Given the description of an element on the screen output the (x, y) to click on. 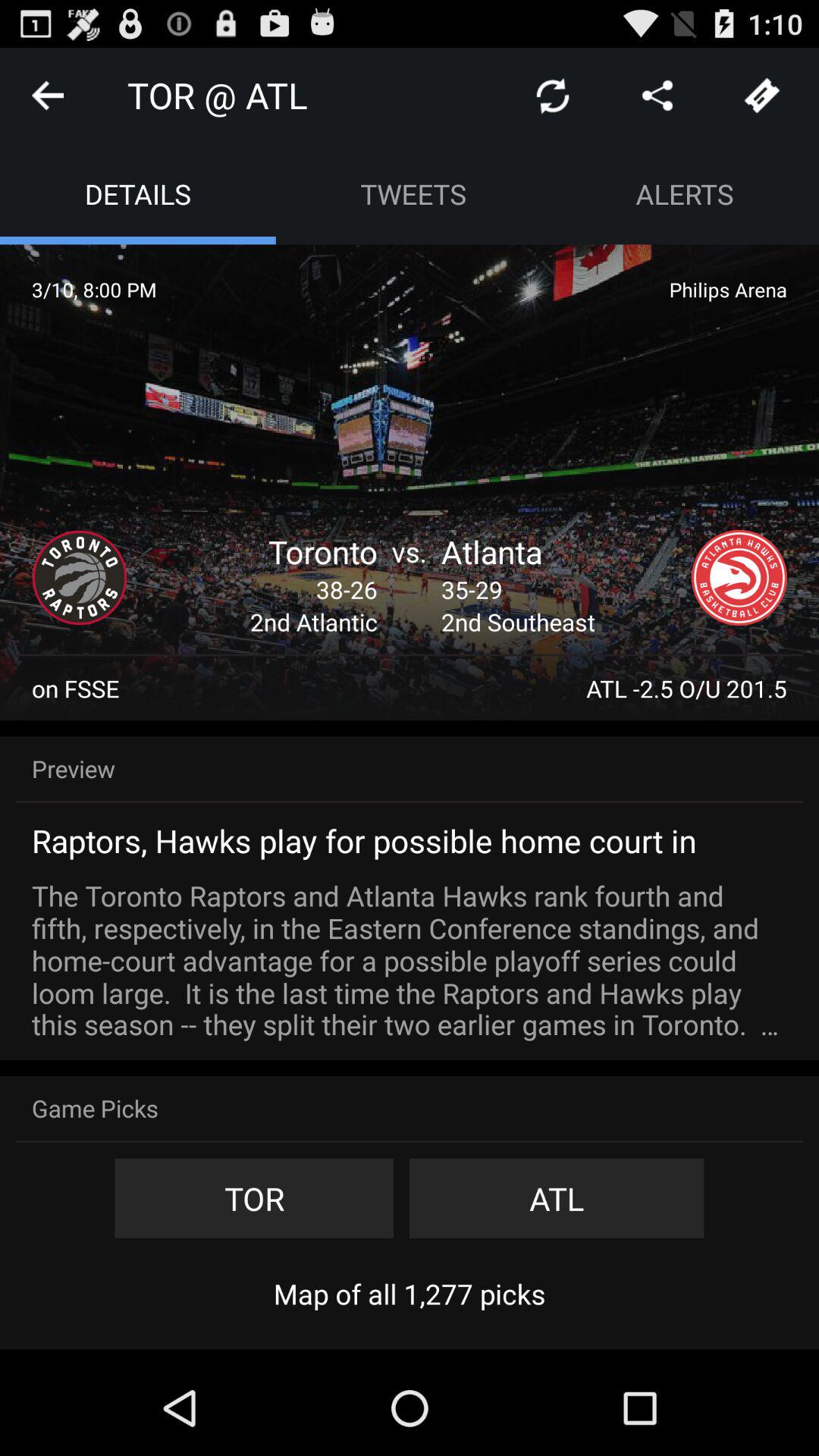
tap to purchase ticket (762, 95)
